Given the description of an element on the screen output the (x, y) to click on. 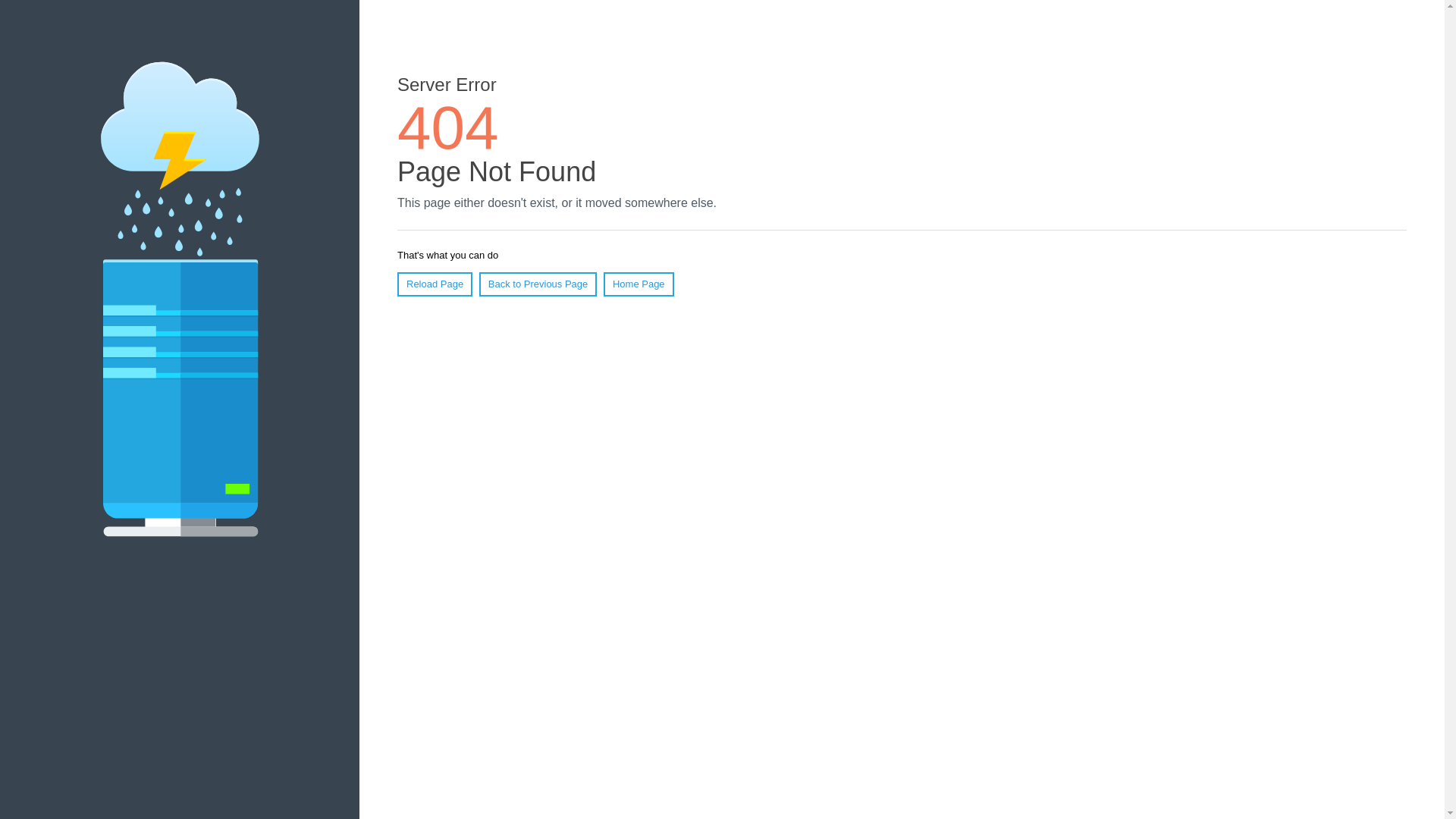
Back to Previous Page Element type: text (538, 284)
Home Page Element type: text (638, 284)
Reload Page Element type: text (434, 284)
